Given the description of an element on the screen output the (x, y) to click on. 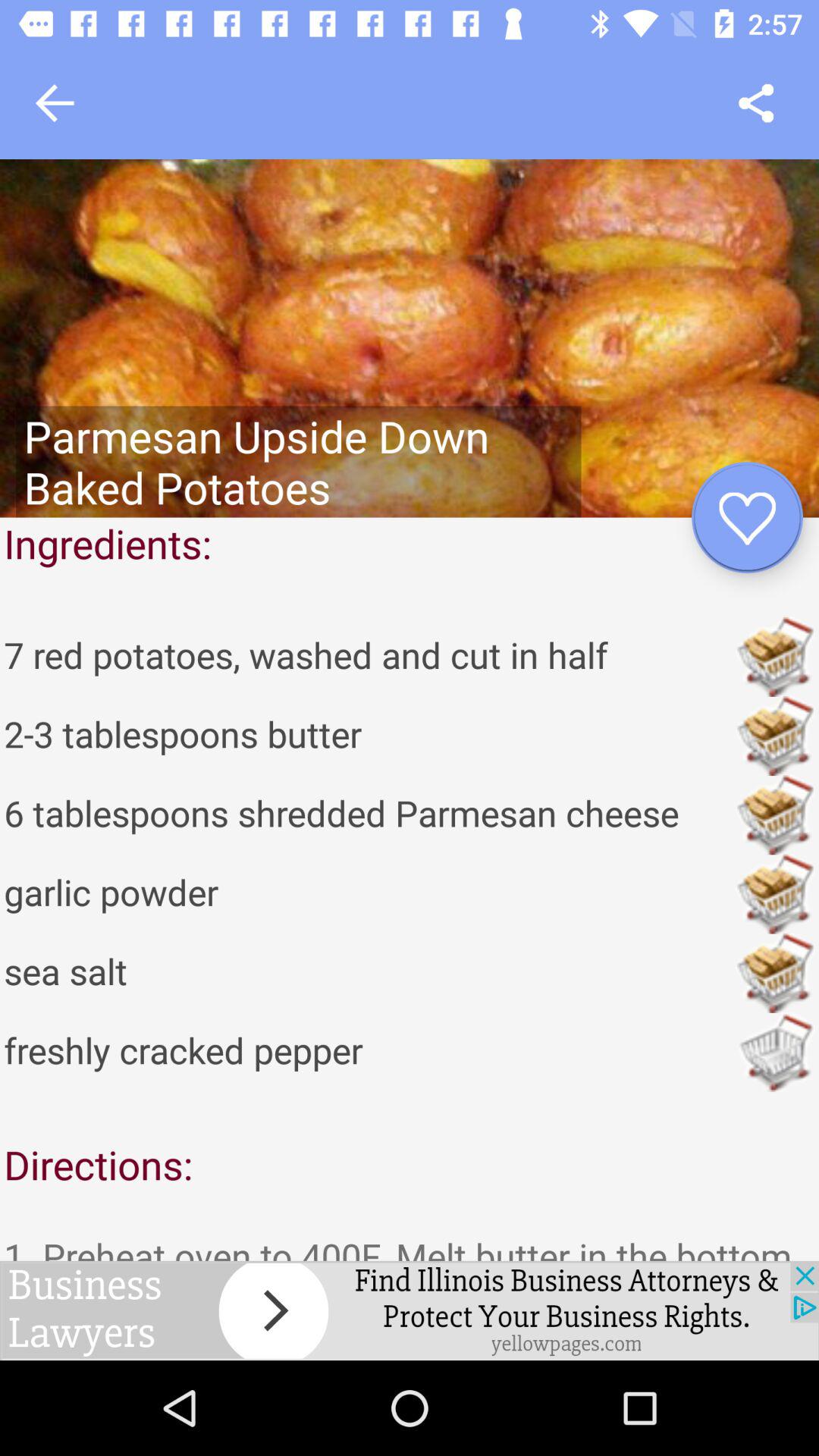
go back (54, 103)
